Given the description of an element on the screen output the (x, y) to click on. 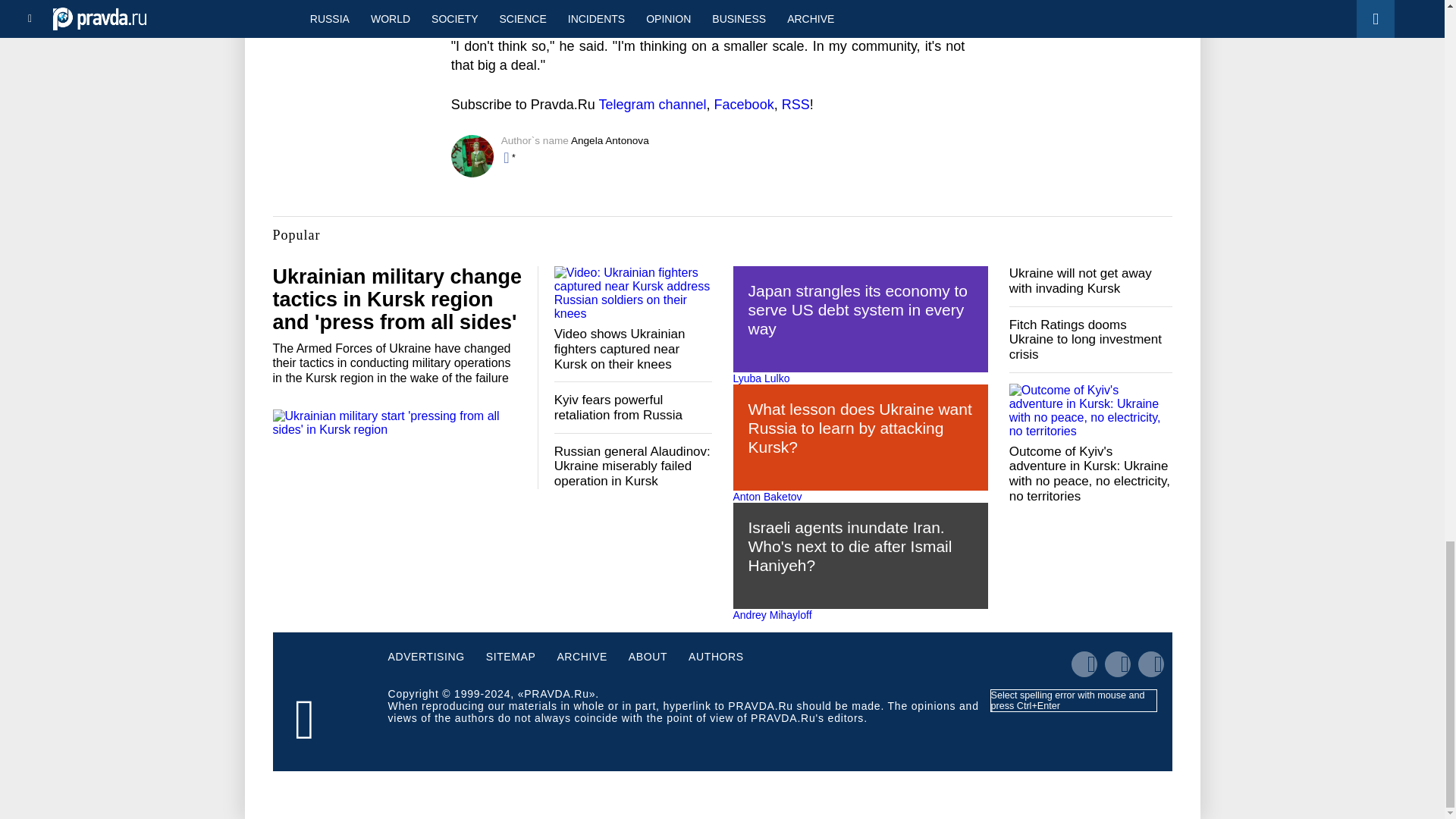
RSS (795, 104)
Facebook (744, 104)
Telegram channel (652, 104)
Angela Antonova (609, 140)
